Given the description of an element on the screen output the (x, y) to click on. 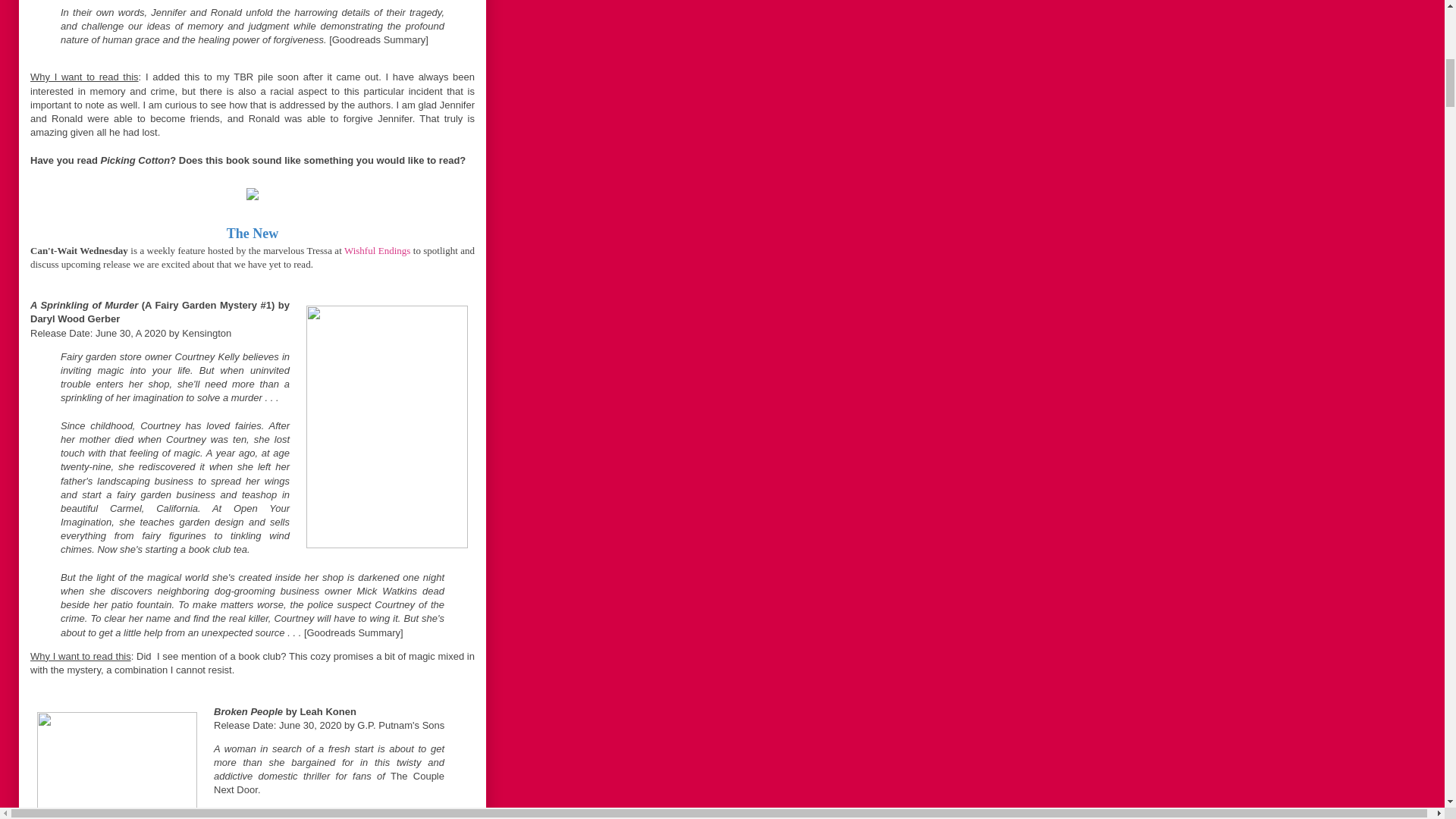
Wishful Endings (376, 250)
